Given the description of an element on the screen output the (x, y) to click on. 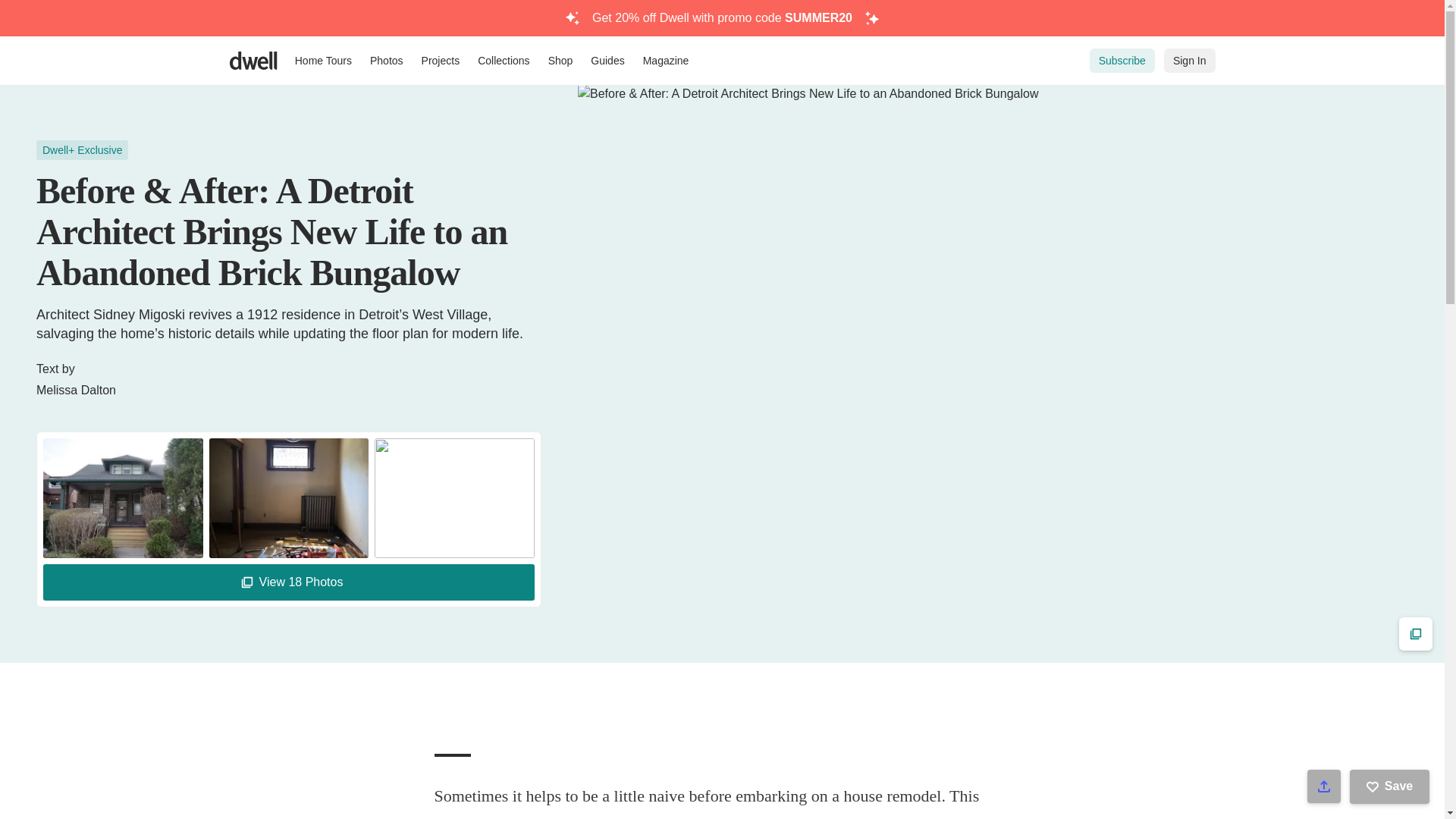
Photos (386, 60)
Projects (440, 60)
Shop (560, 60)
Collections (503, 60)
Home Tours (323, 60)
